Given the description of an element on the screen output the (x, y) to click on. 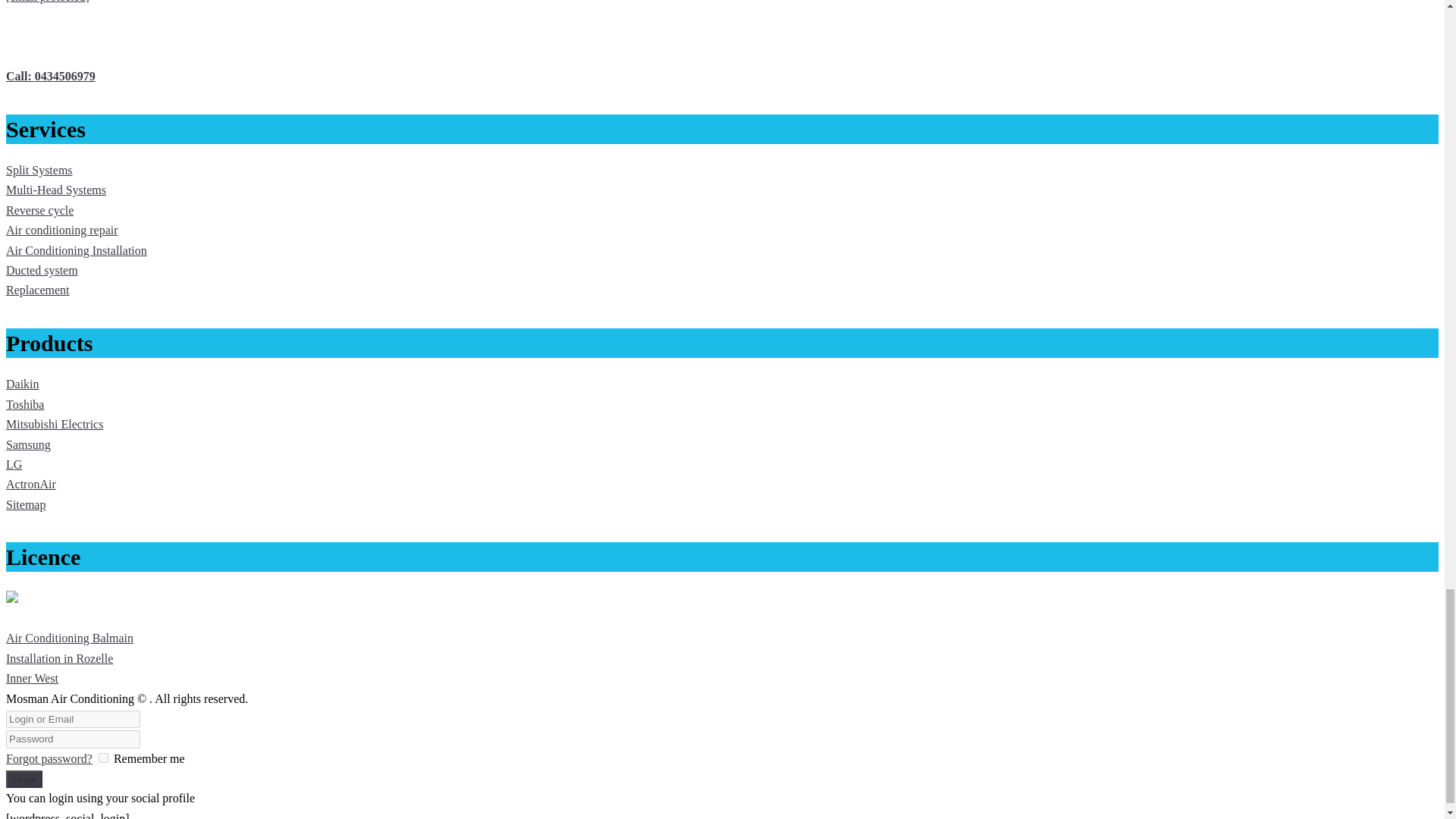
forever (103, 757)
Login (23, 778)
